Given the description of an element on the screen output the (x, y) to click on. 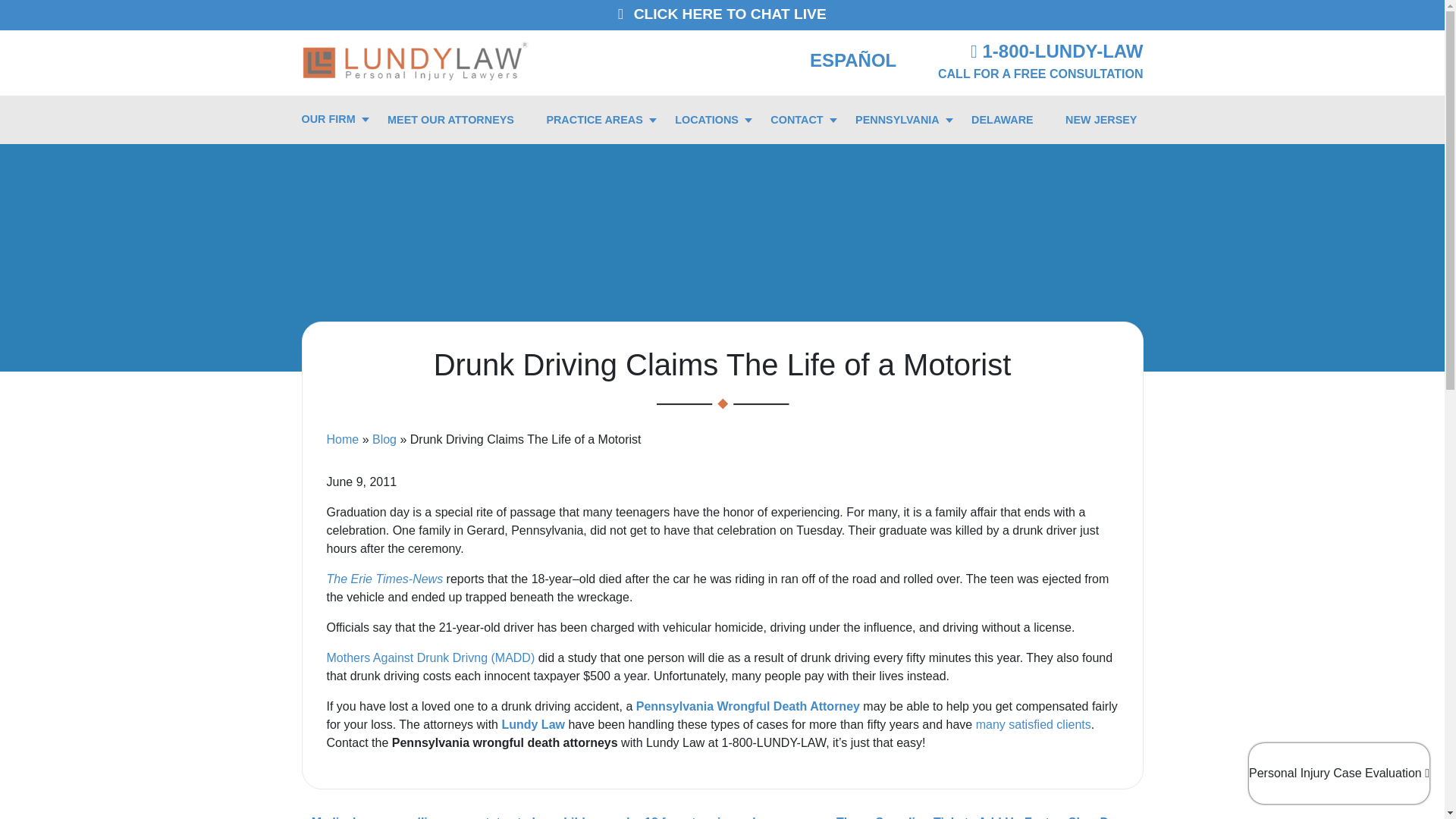
Lundy Law Personal Injury Lawyers Logo (415, 60)
CALL FOR A FREE CONSULTATION (1039, 73)
home (415, 59)
1-800-LUNDY-LAW (1056, 50)
